Given the description of an element on the screen output the (x, y) to click on. 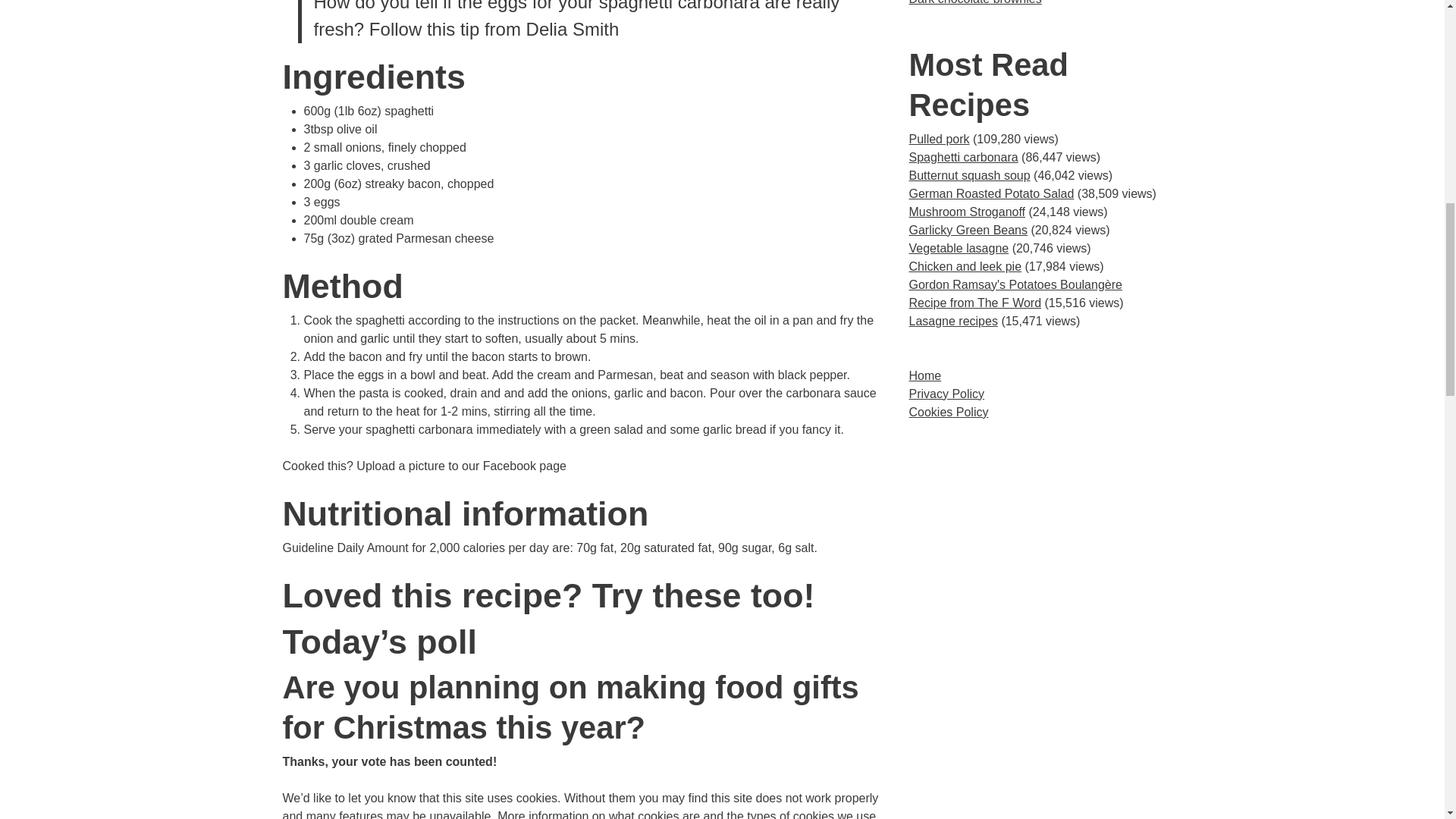
Garlicky Green Beans (967, 229)
Mushroom Stroganoff (966, 211)
Lasagne recipes (952, 320)
Chicken and leek pie (965, 266)
German Roasted Potato Salad (991, 193)
Butternut squash soup (968, 174)
Pulled pork (938, 138)
Spaghetti carbonara (962, 156)
Vegetable lasagne (958, 247)
